Given the description of an element on the screen output the (x, y) to click on. 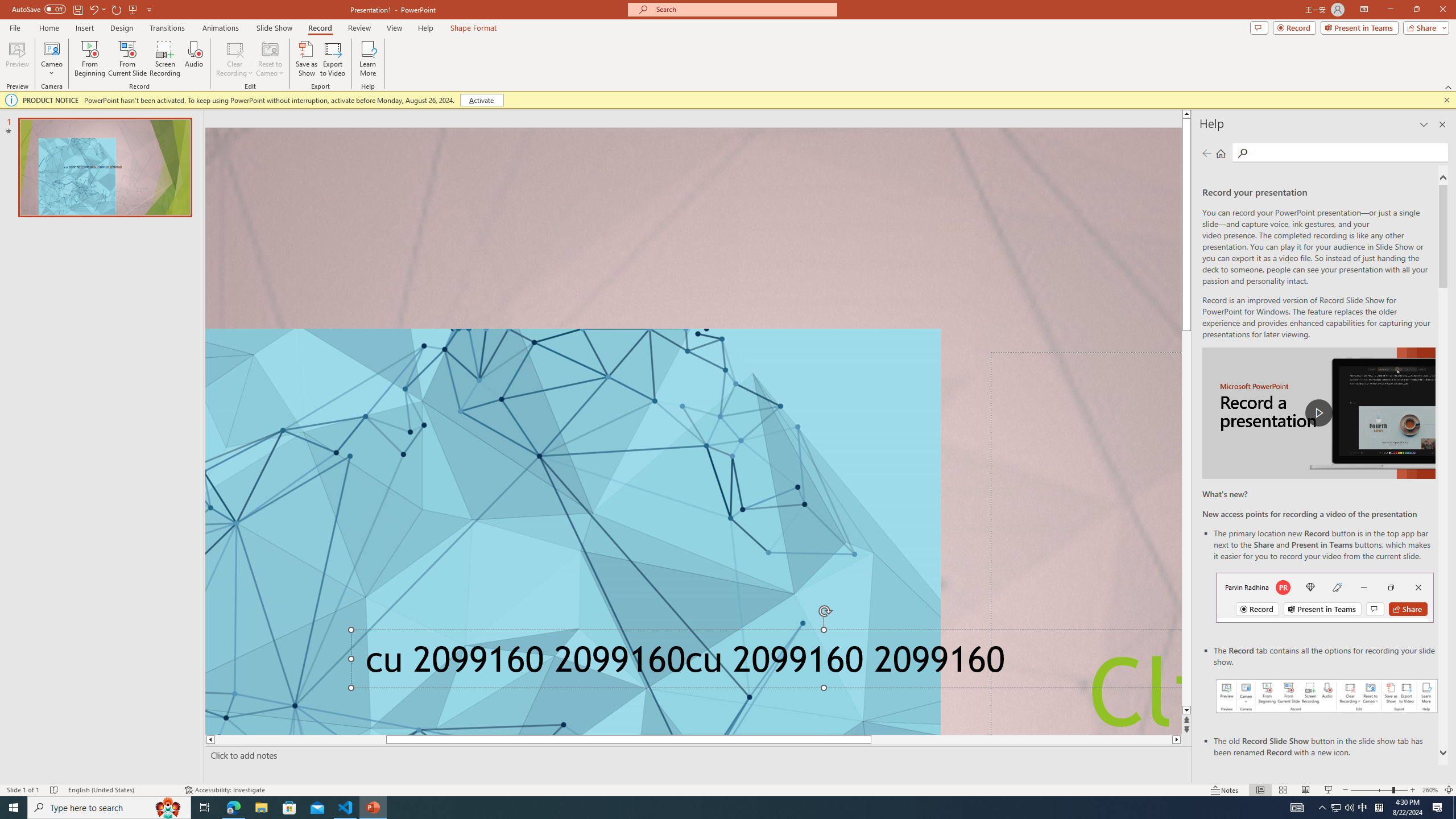
Record your presentations screenshot one (1326, 695)
From Beginning... (89, 58)
Activate (481, 100)
